Given the description of an element on the screen output the (x, y) to click on. 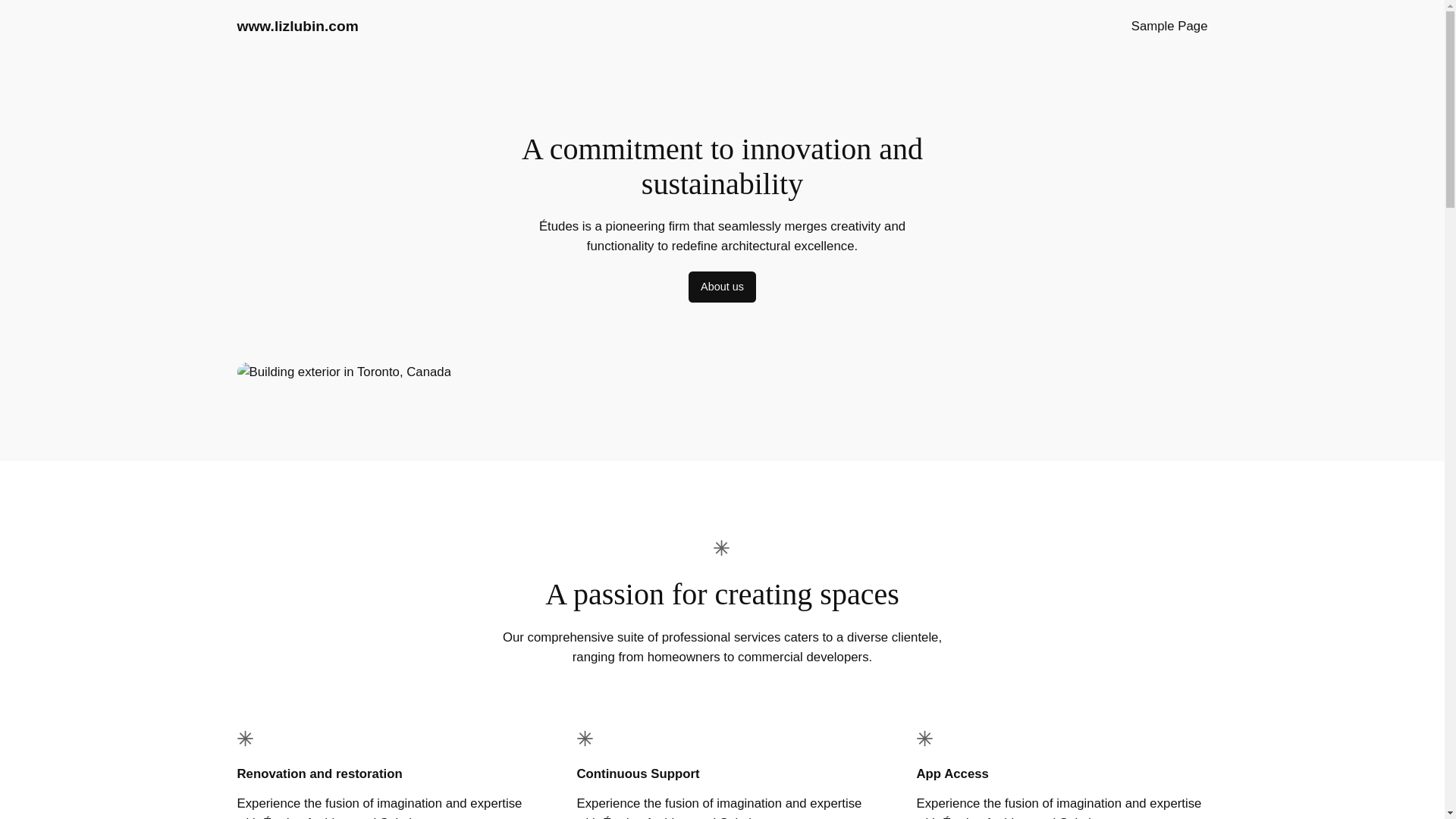
About us (721, 287)
www.lizlubin.com (296, 26)
Sample Page (1169, 26)
